Given the description of an element on the screen output the (x, y) to click on. 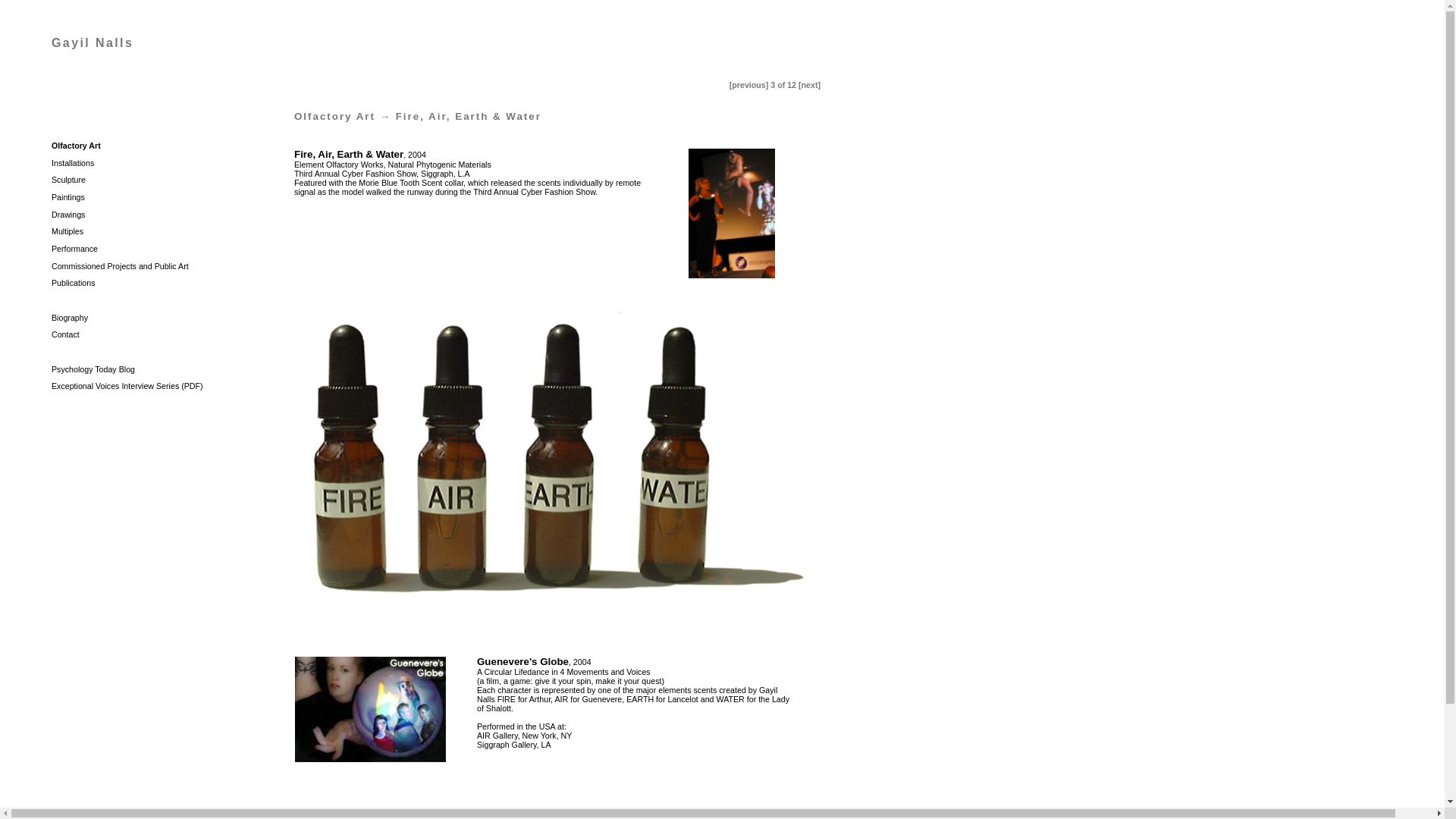
Multiples (66, 230)
Publications (72, 282)
Gayil Nalls (91, 42)
Contact (65, 334)
Olfactory Art (334, 116)
Performance (73, 248)
Olfactory Art (75, 144)
Installations (72, 162)
Psychology Today Blog (92, 368)
Paintings (67, 196)
Commissioned Projects and Public Art (119, 266)
Sculpture (67, 179)
Drawings (67, 214)
Biography (68, 317)
